Given the description of an element on the screen output the (x, y) to click on. 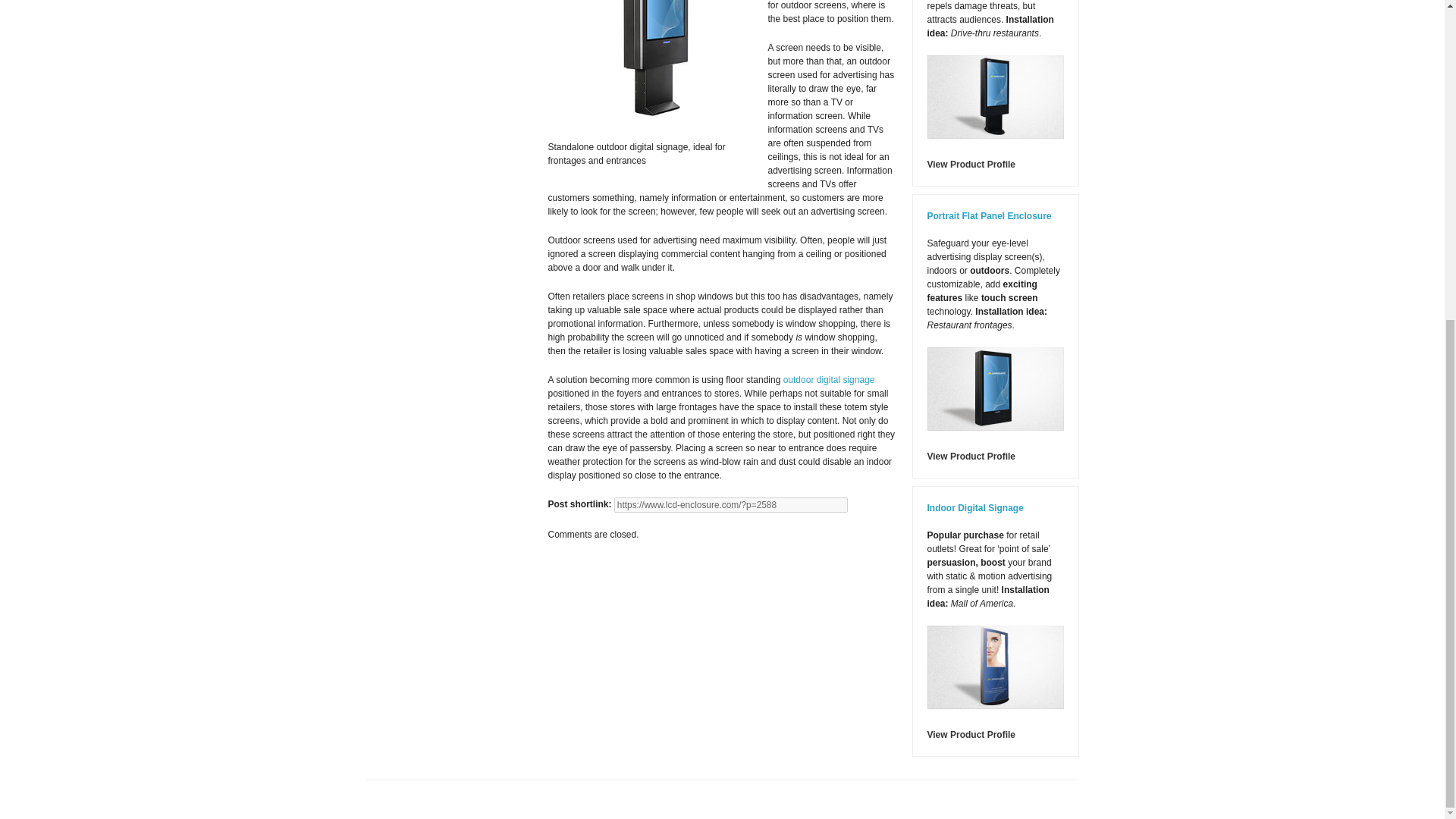
View Product Profile (970, 163)
View Product Profile (970, 734)
Portrait Flat Panel Enclosure (988, 215)
Indoor Digital Signage (974, 507)
outdoor digital signage (829, 379)
View Product Profile (970, 456)
